Given the description of an element on the screen output the (x, y) to click on. 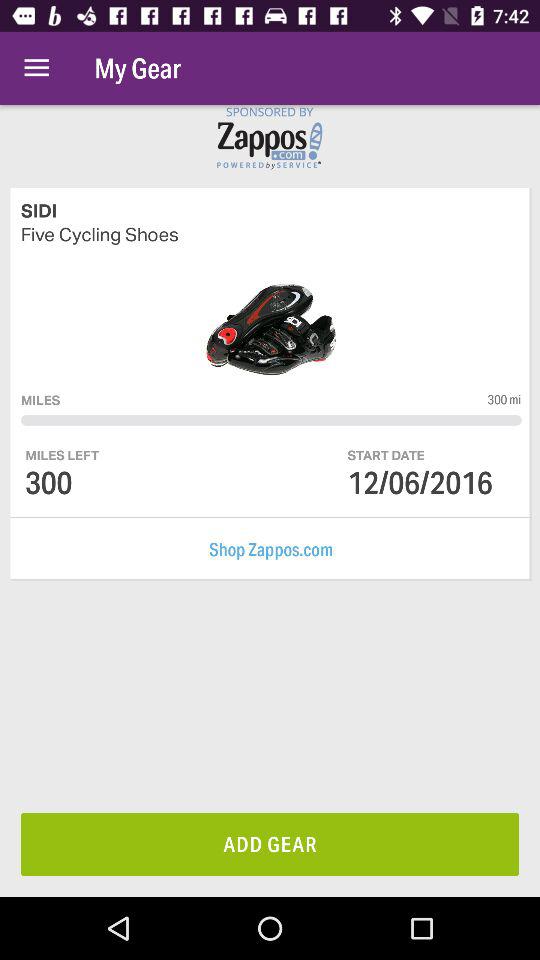
swipe to add gear item (270, 844)
